Given the description of an element on the screen output the (x, y) to click on. 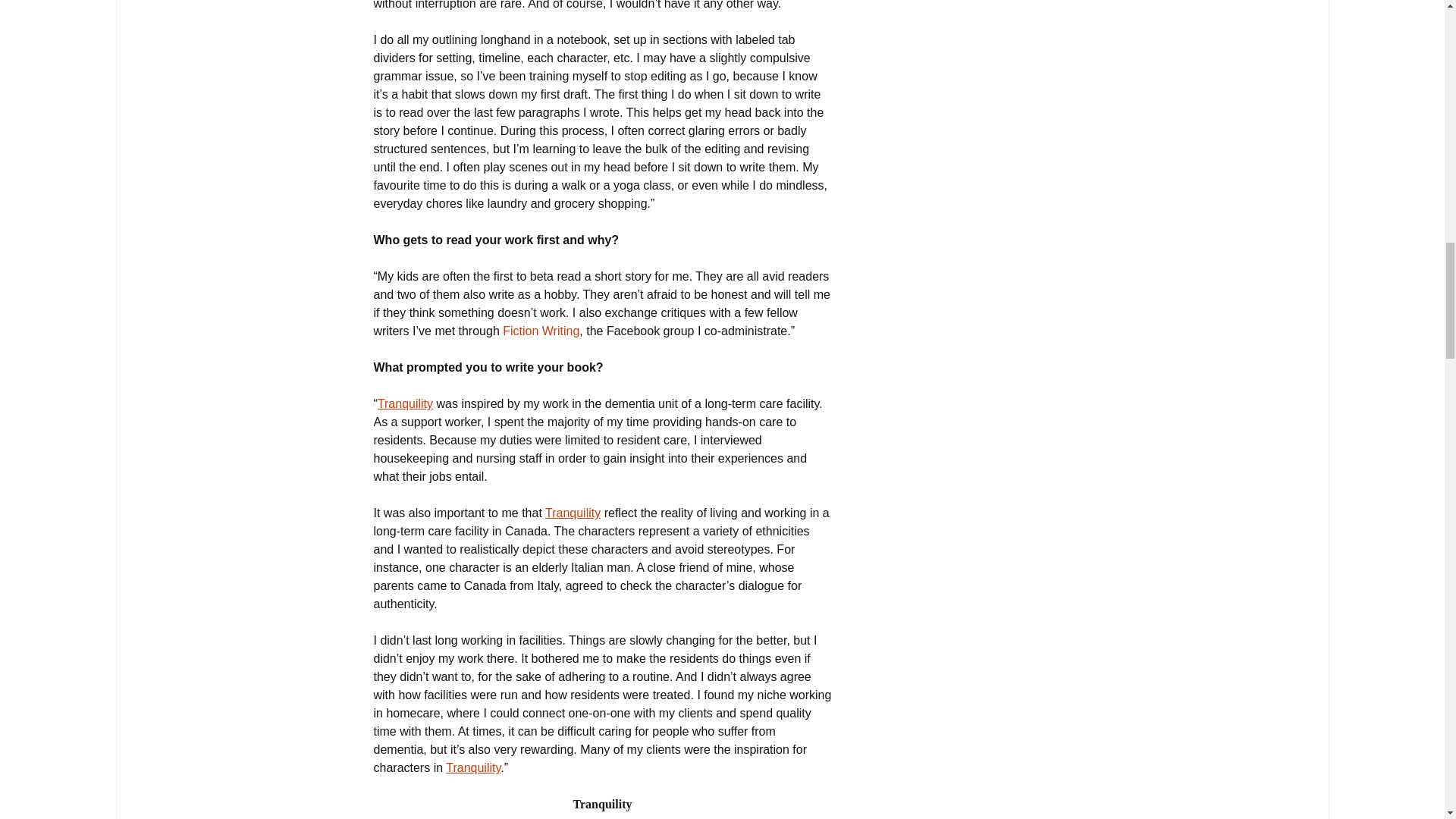
Tranquility (571, 512)
Fiction Writing (540, 330)
Tranquility (404, 403)
